Given the description of an element on the screen output the (x, y) to click on. 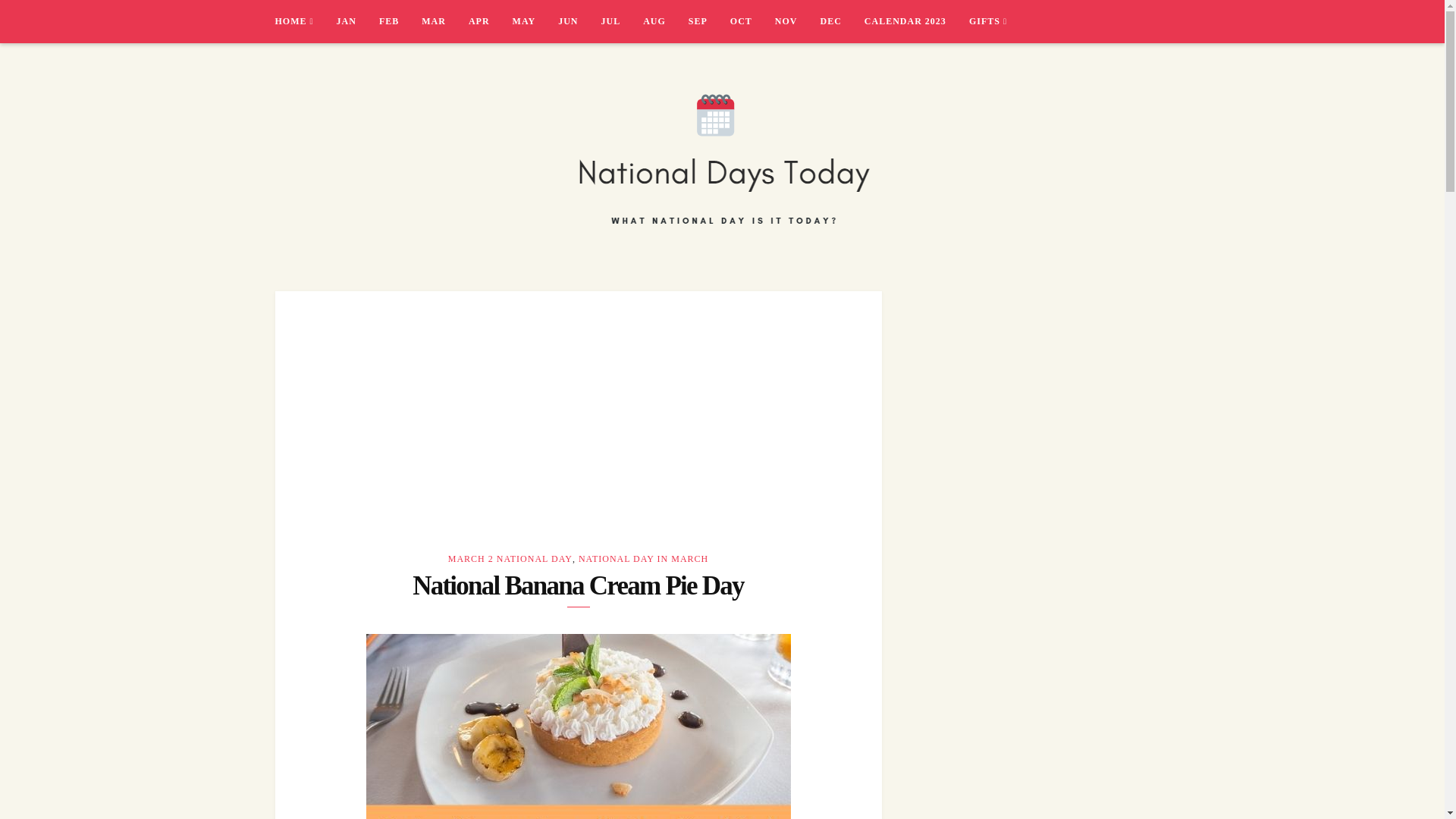
National Banana Cream Pie Day (577, 410)
JUL (621, 21)
HOME (305, 21)
NATIONAL DAY IN MARCH (642, 558)
NOV (797, 21)
MAR (445, 21)
MAY (535, 21)
JAN (357, 21)
NATIONAL DAYS TODAY (401, 268)
FEB (400, 21)
CALENDAR 2023 (916, 21)
DEC (842, 21)
JUN (578, 21)
AUG (665, 21)
MARCH 2 NATIONAL DAY (510, 558)
